Given the description of an element on the screen output the (x, y) to click on. 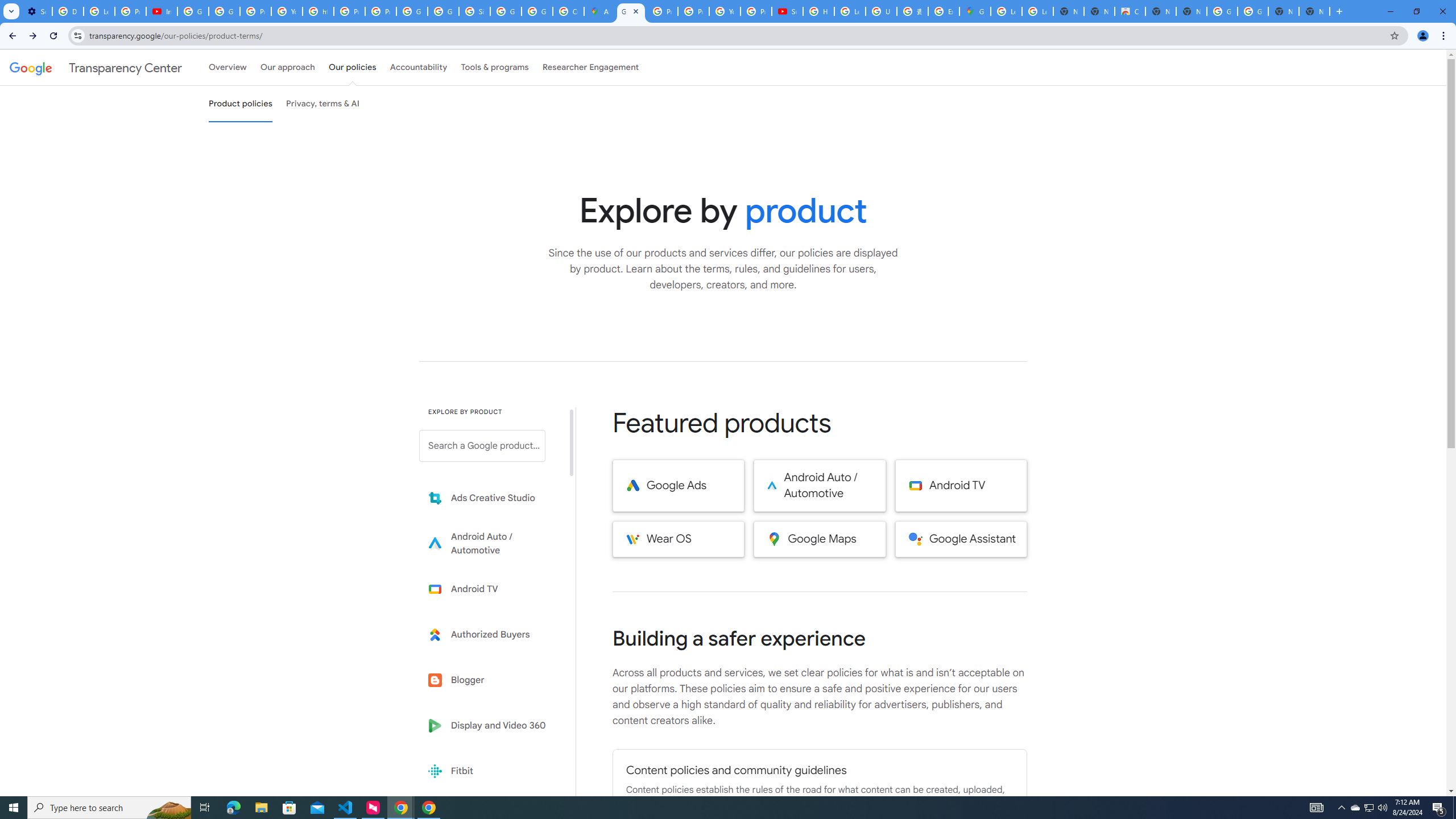
Android Auto / Automotive (820, 485)
Learn more about Android Auto (490, 543)
Google Images (1252, 11)
Create your Google Account (568, 11)
Fitbit (490, 770)
Blogger (490, 679)
